Given the description of an element on the screen output the (x, y) to click on. 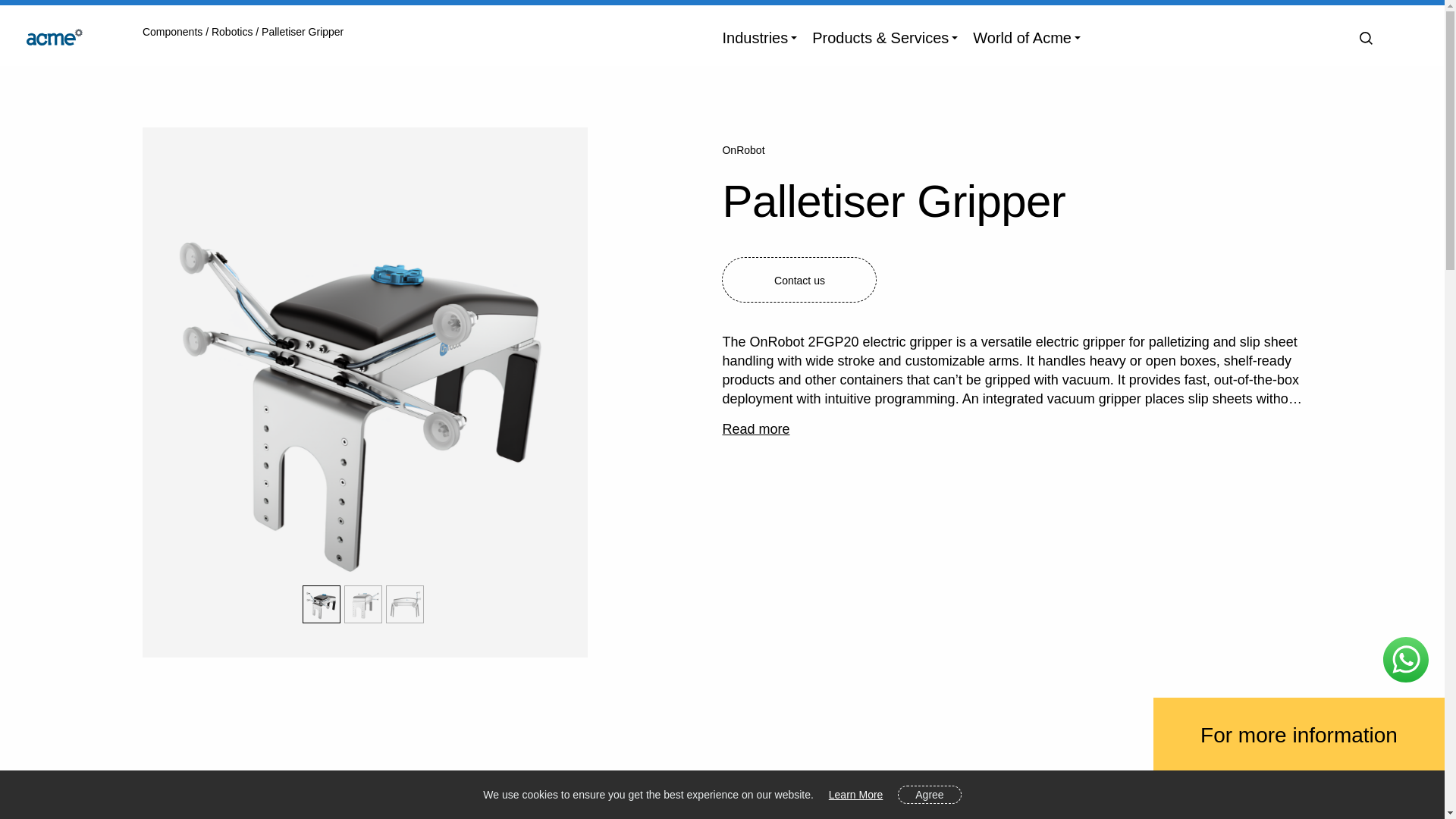
Robotics (233, 31)
Components (173, 31)
